Given the description of an element on the screen output the (x, y) to click on. 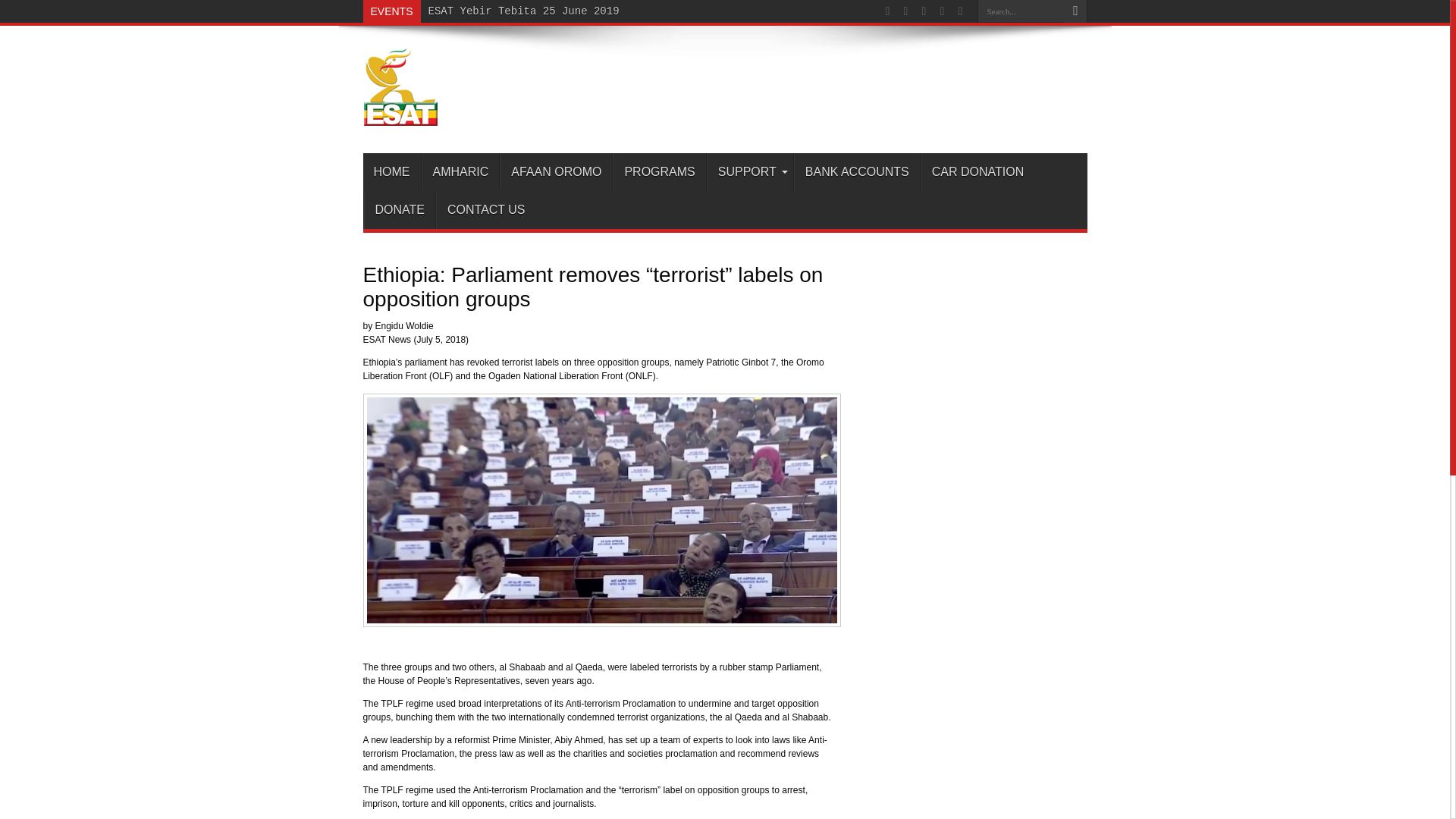
AFAAN OROMO (555, 171)
HOME (391, 171)
AMHARIC (460, 171)
BANK ACCOUNTS (856, 171)
Search (1075, 11)
SUPPORT (749, 171)
CAR DONATION (976, 171)
DONATE (399, 209)
CONTACT US (485, 209)
ESAT Yebir Tebita 25 June 2019 (524, 11)
